Given the description of an element on the screen output the (x, y) to click on. 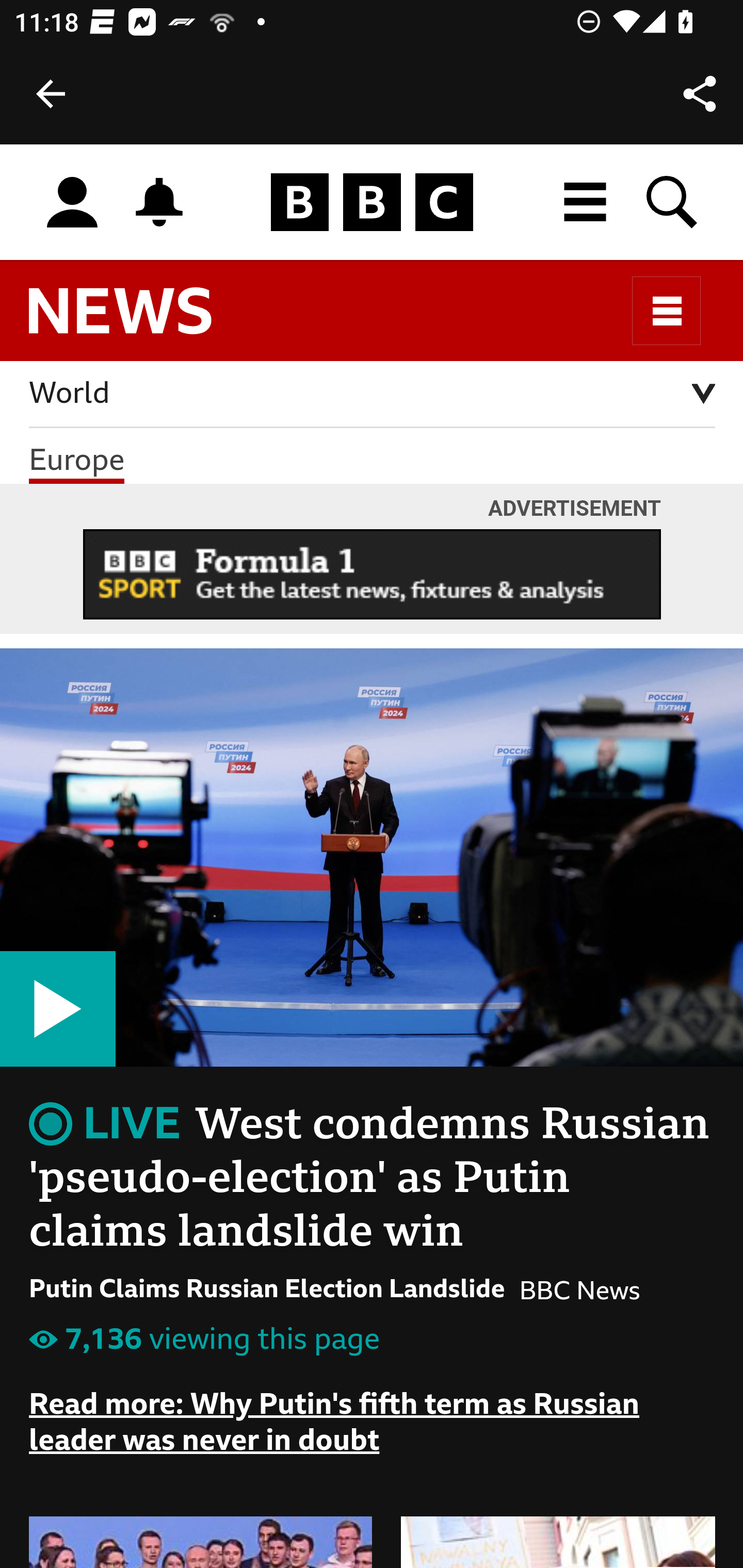
Back (50, 93)
Share (699, 93)
Notifications (159, 202)
All BBC destinations menu (585, 202)
Search BBC (672, 202)
Sign in (71, 203)
Homepage (371, 203)
Sections (667, 310)
BBC News (136, 319)
World (372, 394)
